Given the description of an element on the screen output the (x, y) to click on. 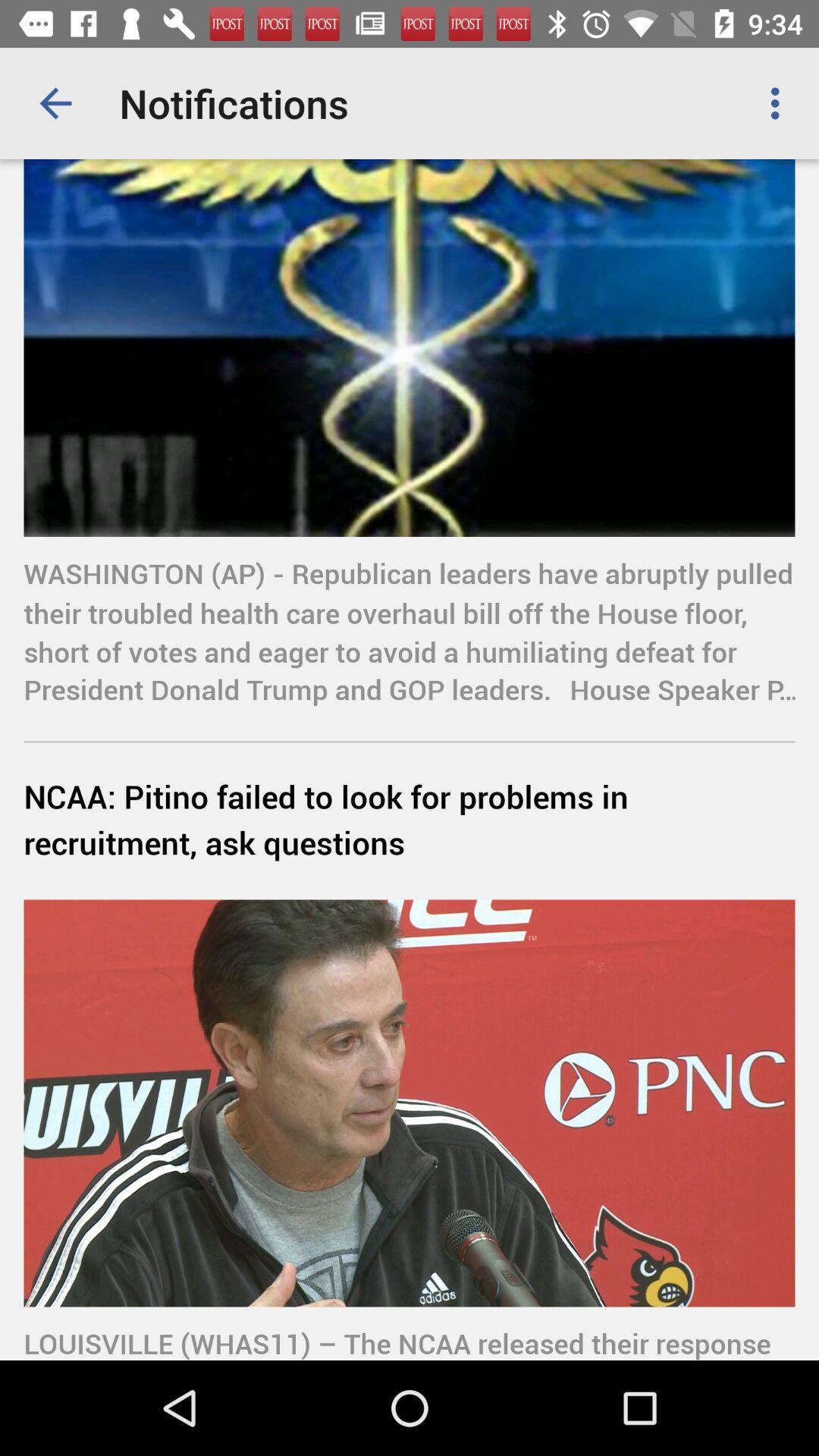
press item to the left of the notifications item (55, 103)
